Given the description of an element on the screen output the (x, y) to click on. 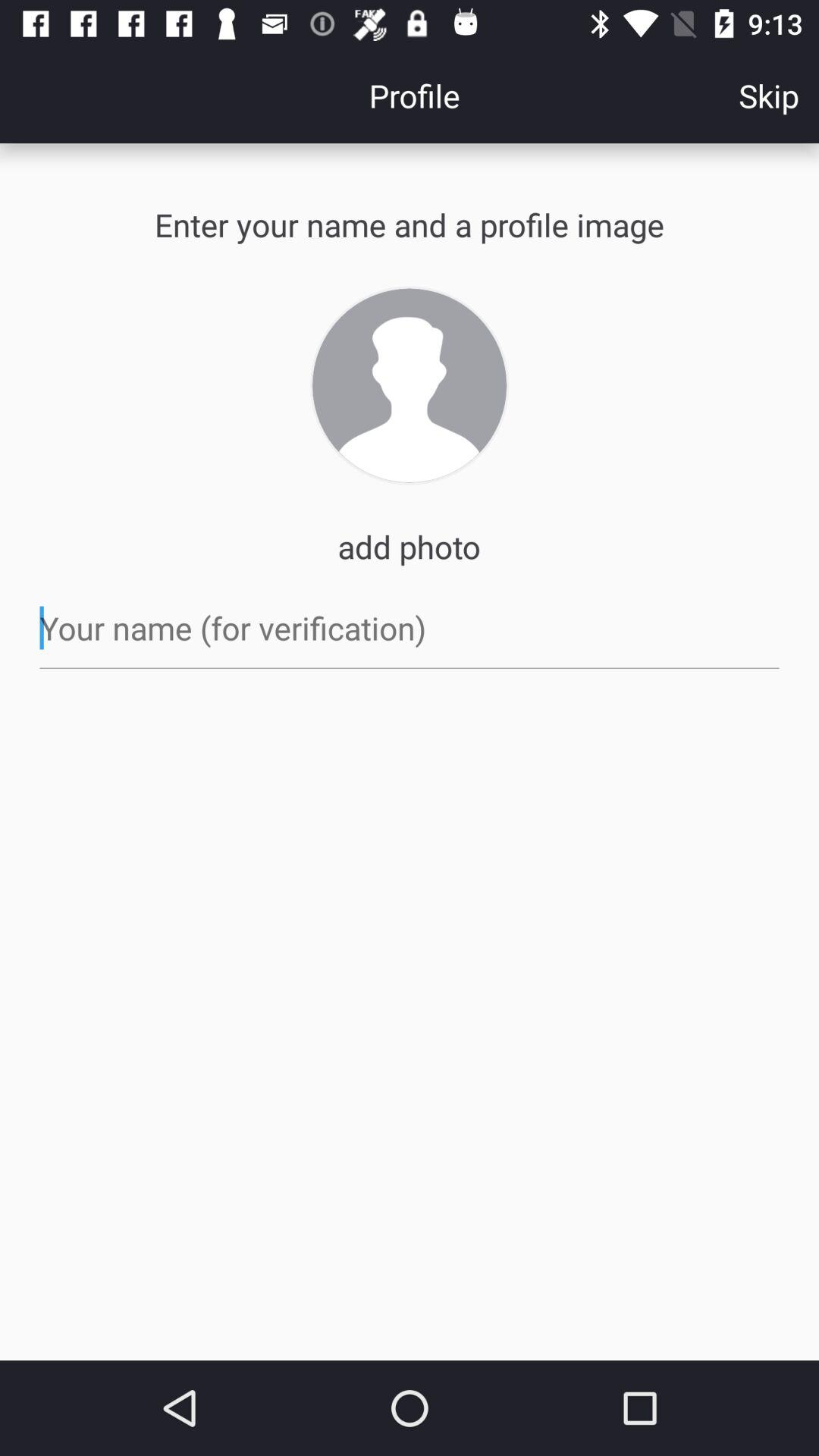
tap skip icon (768, 95)
